Given the description of an element on the screen output the (x, y) to click on. 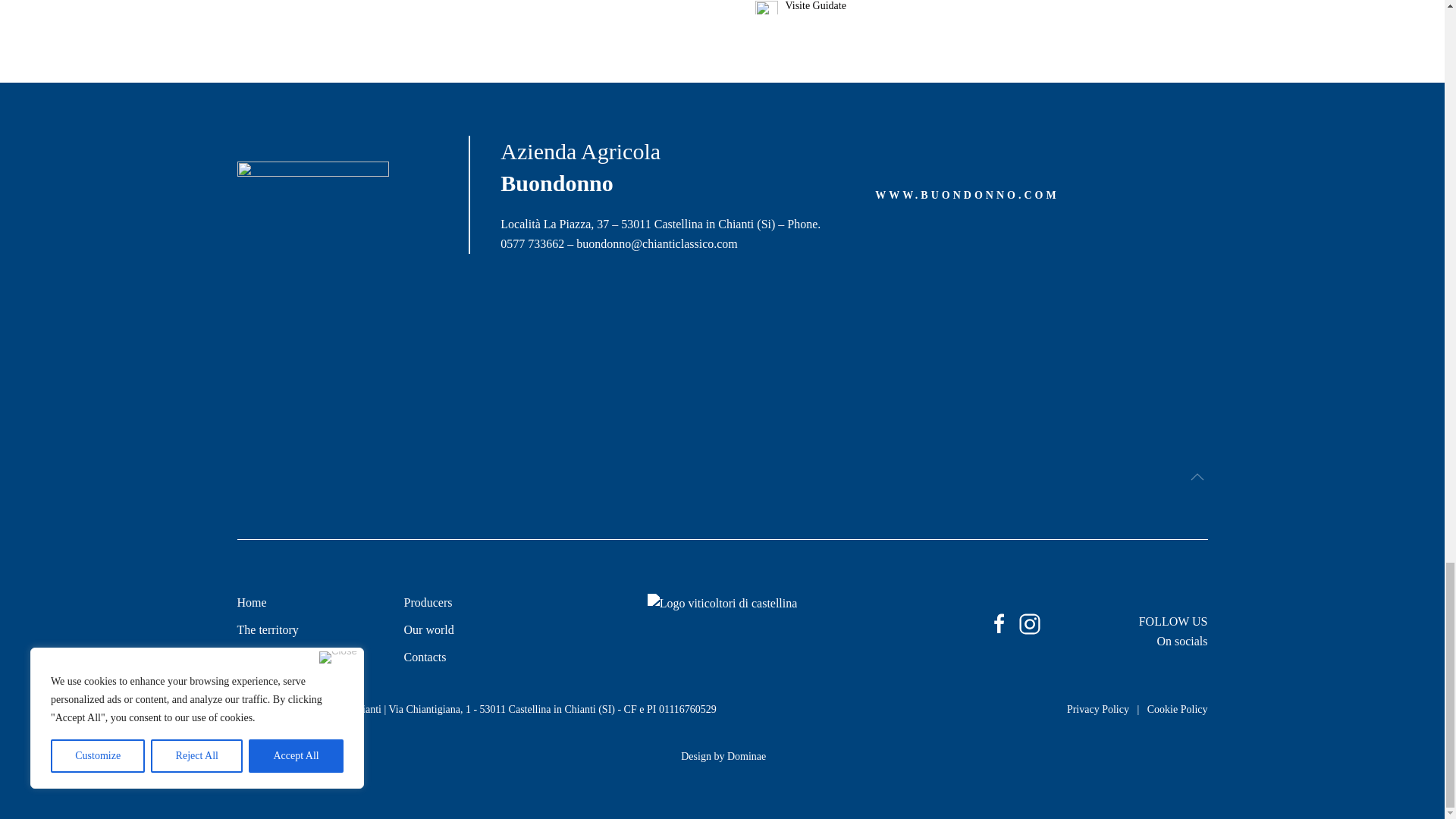
Home (303, 602)
Our world (427, 629)
Contacts (424, 656)
Chianti classico (274, 656)
The territory (266, 629)
Producers (427, 602)
WWW.BUONDONNO.COM (967, 195)
